Given the description of an element on the screen output the (x, y) to click on. 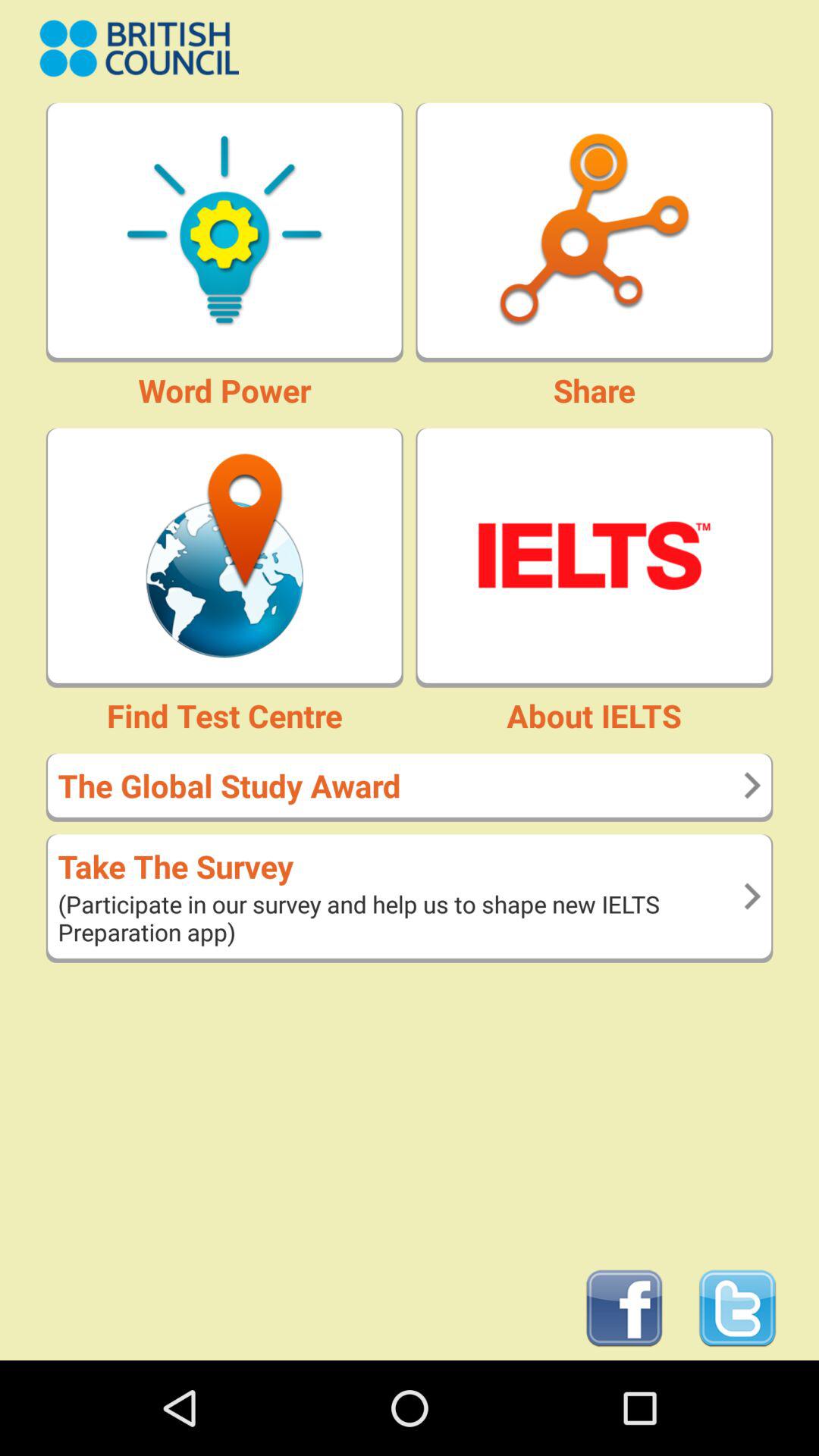
search for test centers (224, 555)
